Given the description of an element on the screen output the (x, y) to click on. 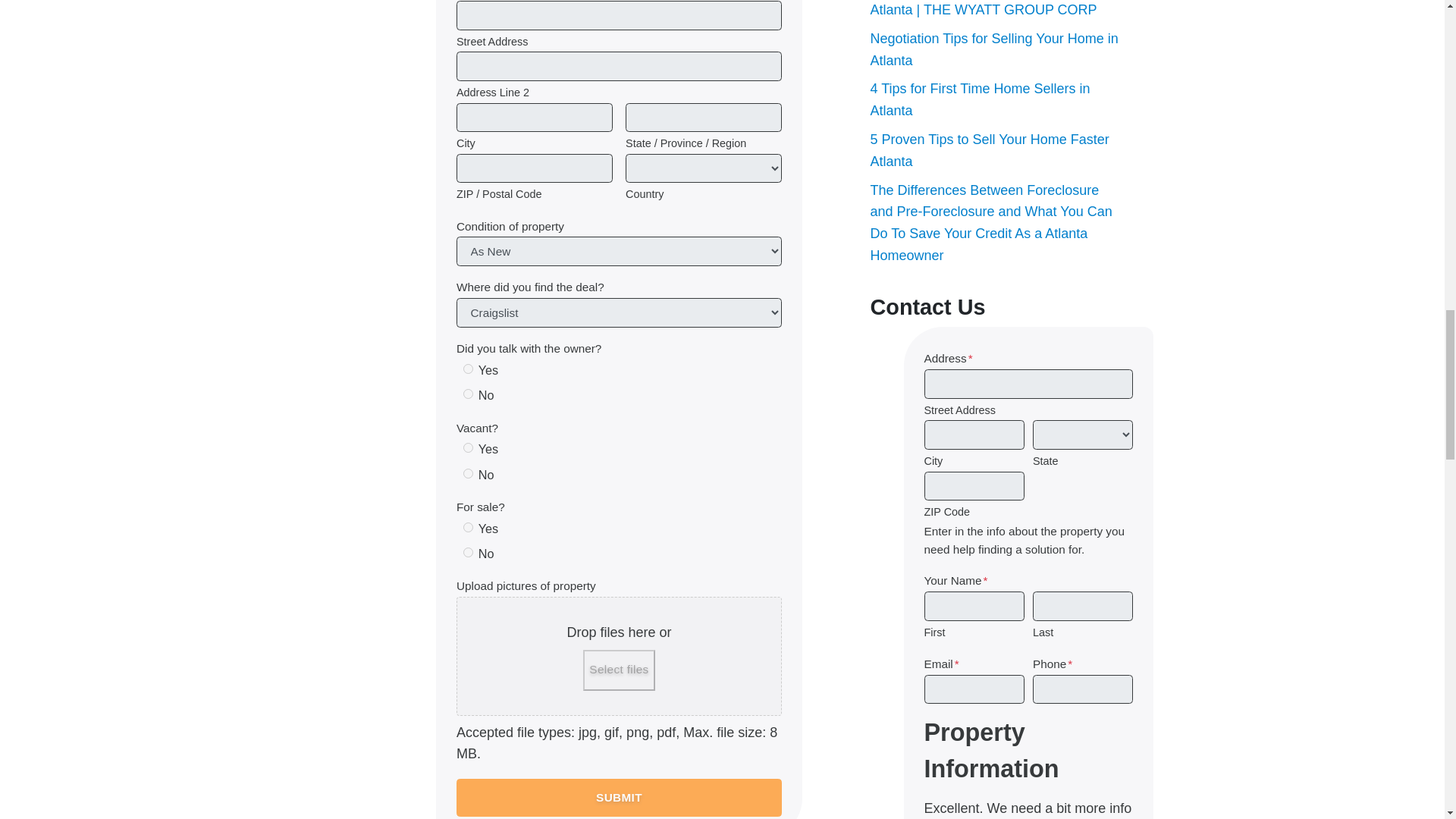
Yes (468, 368)
5 Proven Tips to Sell Your Home Faster Atlanta (989, 149)
No (468, 552)
No (468, 393)
4 Tips for First Time Home Sellers in Atlanta (980, 99)
Submit (619, 797)
Negotiation Tips for Selling Your Home in Atlanta (994, 49)
Yes (468, 447)
Yes (468, 527)
